Given the description of an element on the screen output the (x, y) to click on. 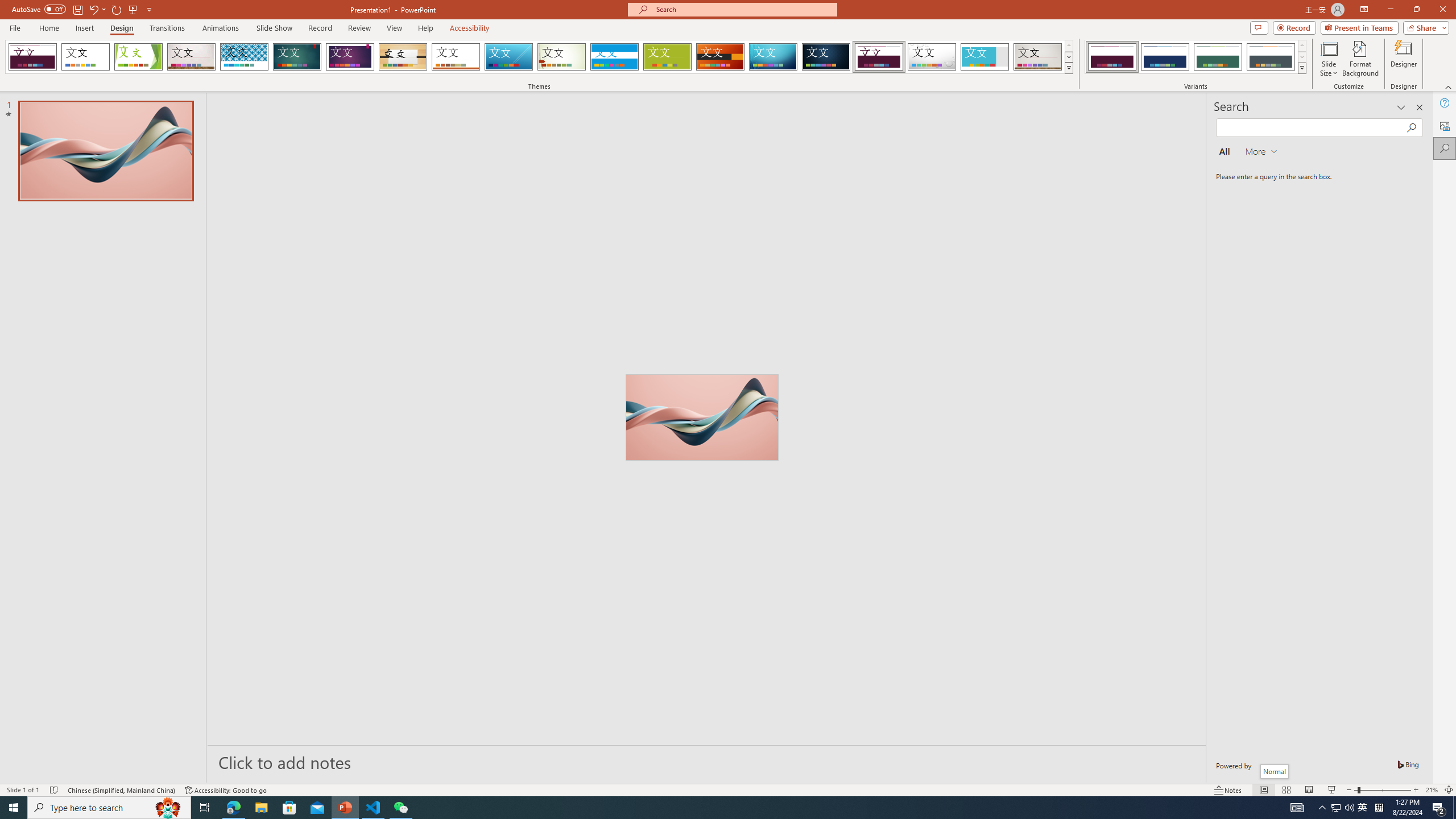
Ion Boardroom (350, 56)
Zoom 21% (1431, 790)
Dividend Variant 2 (1164, 56)
Berlin (720, 56)
